Given the description of an element on the screen output the (x, y) to click on. 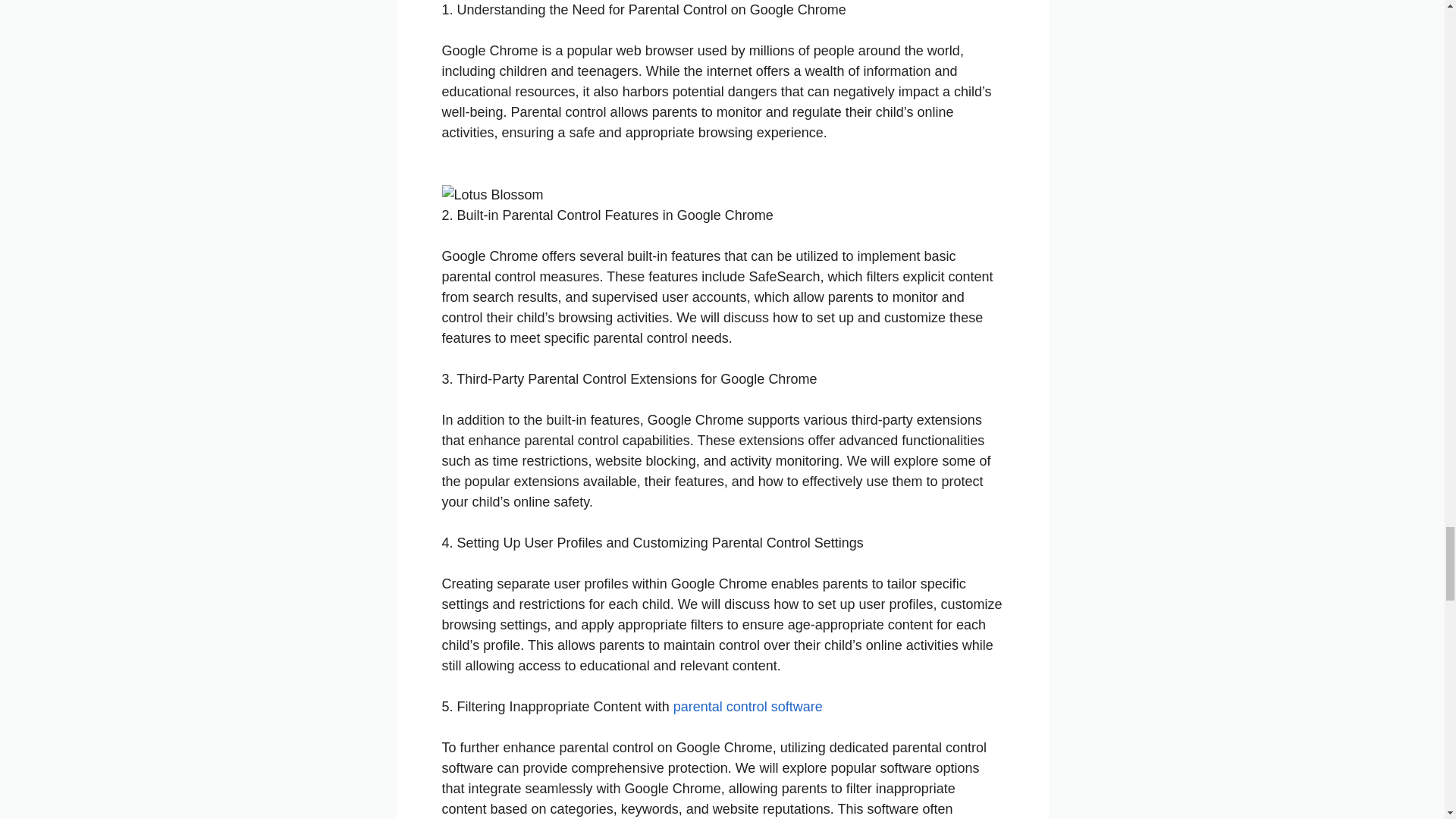
Lotus Blossom (492, 195)
parental control software (747, 706)
